Given the description of an element on the screen output the (x, y) to click on. 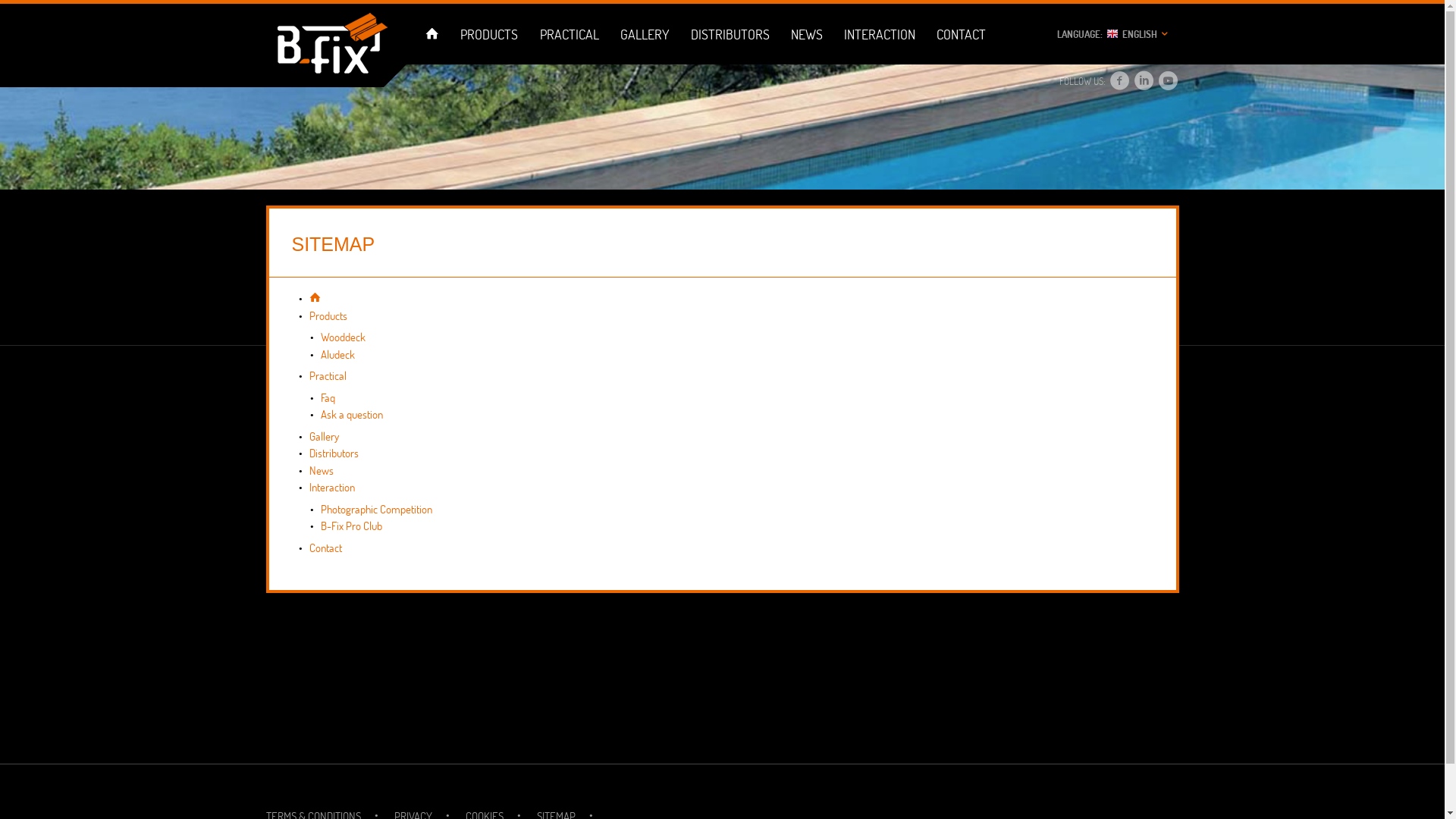
Photographic Competition Element type: text (375, 509)
Facebook Element type: hover (1119, 81)
DISTRIBUTORS Element type: text (729, 33)
Distributors Element type: text (333, 452)
Practical Element type: text (327, 375)
Contact Element type: text (325, 547)
Interaction Element type: text (331, 487)
CONTACT Element type: text (961, 33)
NEWS Element type: text (806, 33)
Faq Element type: text (327, 397)
LinkedIn Element type: hover (1144, 81)
News Element type: text (321, 470)
PRODUCTS Element type: text (489, 33)
PRACTICAL Element type: text (569, 33)
Aludeck Element type: text (337, 354)
GALLERY Element type: text (644, 33)
Youtube Element type: hover (1167, 81)
Products Element type: text (328, 315)
Gallery Element type: text (323, 436)
Ask a question Element type: text (351, 414)
Wooddeck Element type: text (342, 336)
B-Fix Pro Club Element type: text (350, 525)
INTERACTION Element type: text (879, 33)
